Given the description of an element on the screen output the (x, y) to click on. 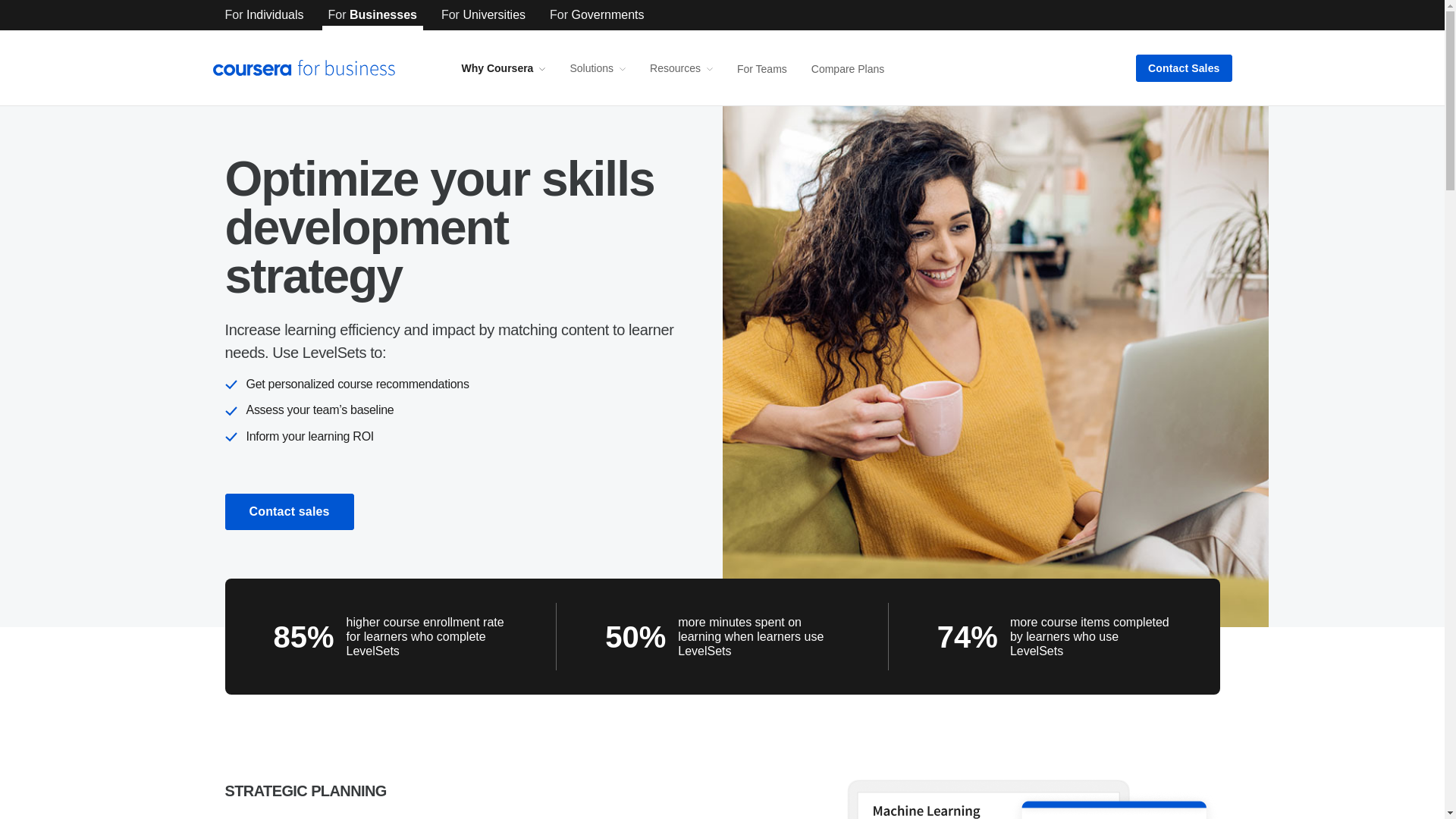
For Businesses (372, 15)
For Universities (483, 15)
Resources (681, 68)
Contact sales (288, 511)
Contact Sales (1183, 67)
For Individuals (263, 15)
Compare Plans (847, 68)
Solutions (597, 68)
For Teams (761, 68)
For Governments (596, 15)
Why Coursera (502, 68)
